Given the description of an element on the screen output the (x, y) to click on. 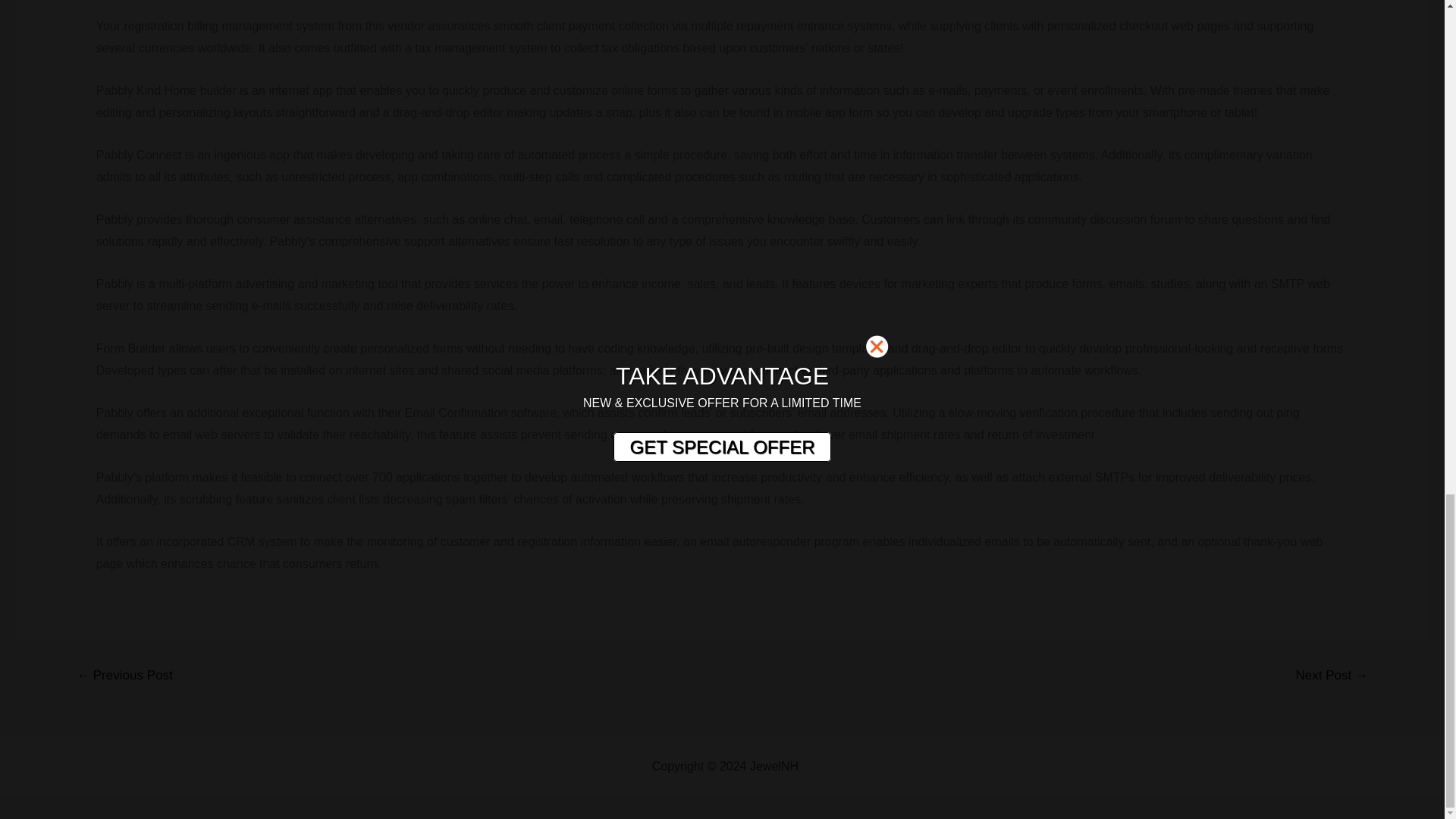
Sitemap (823, 766)
